Given the description of an element on the screen output the (x, y) to click on. 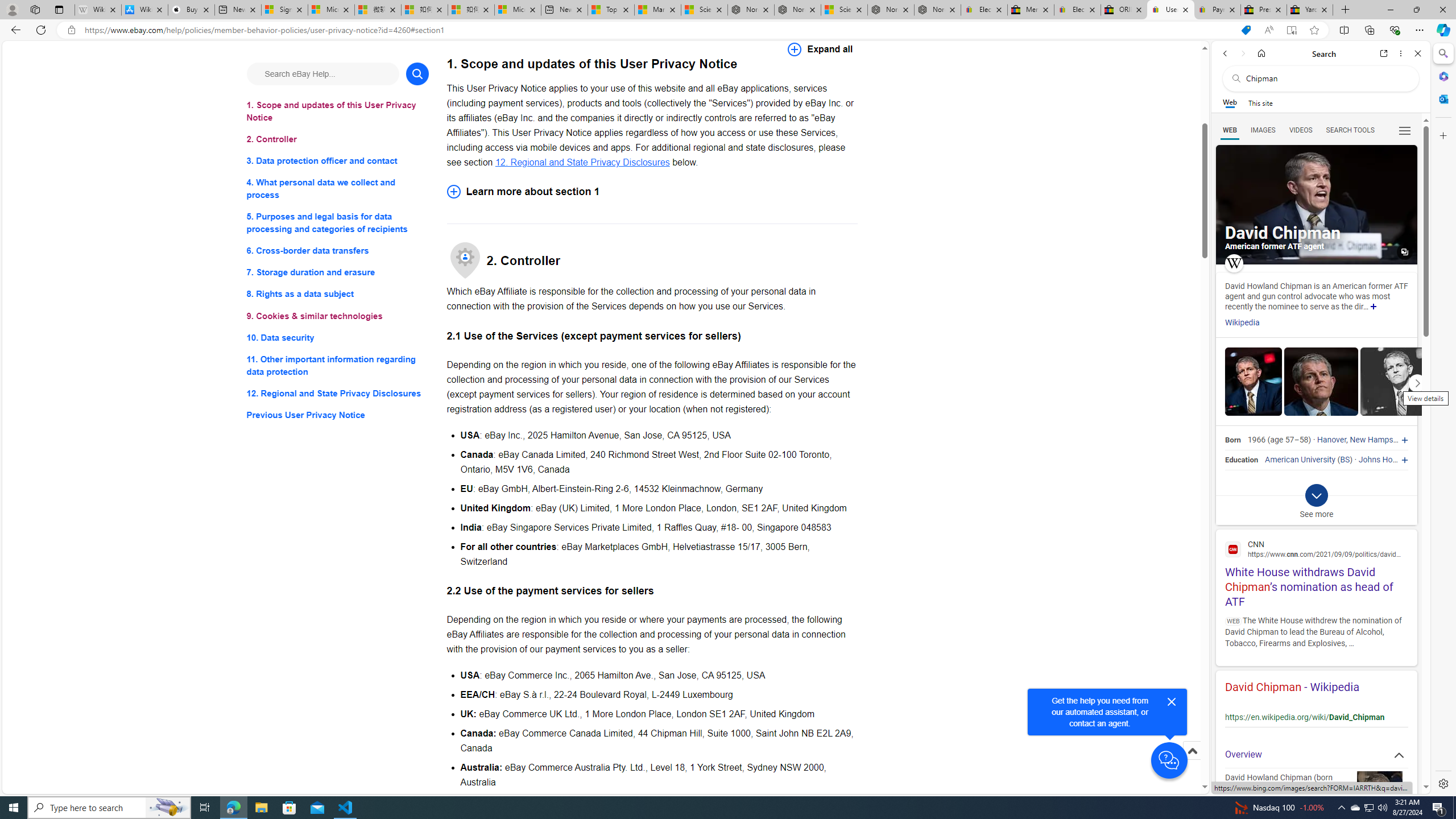
7. Storage duration and erasure (337, 272)
Expand all (820, 49)
BS (1344, 460)
New Hampshire (1377, 439)
